Given the description of an element on the screen output the (x, y) to click on. 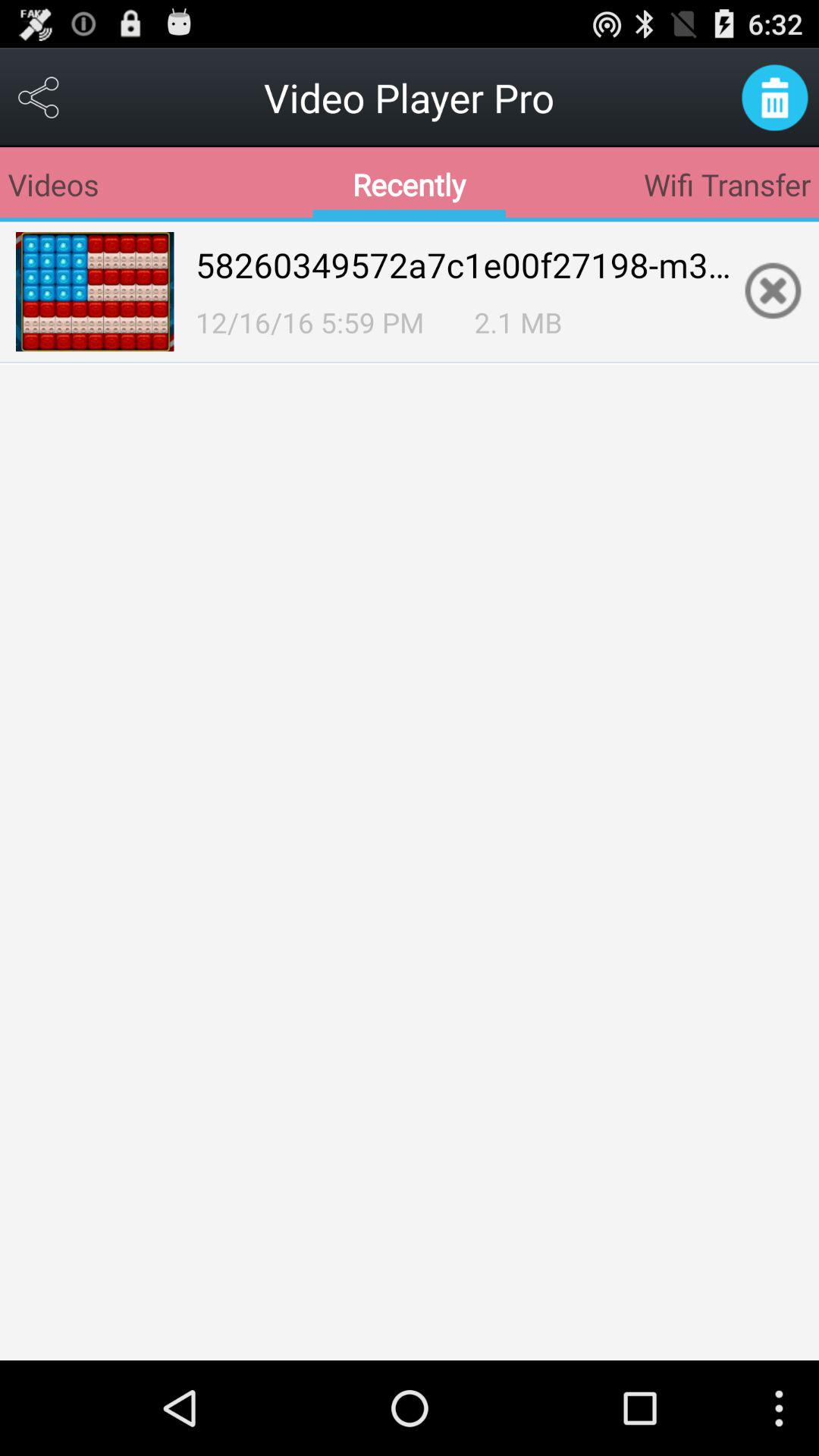
trash video (774, 97)
